Given the description of an element on the screen output the (x, y) to click on. 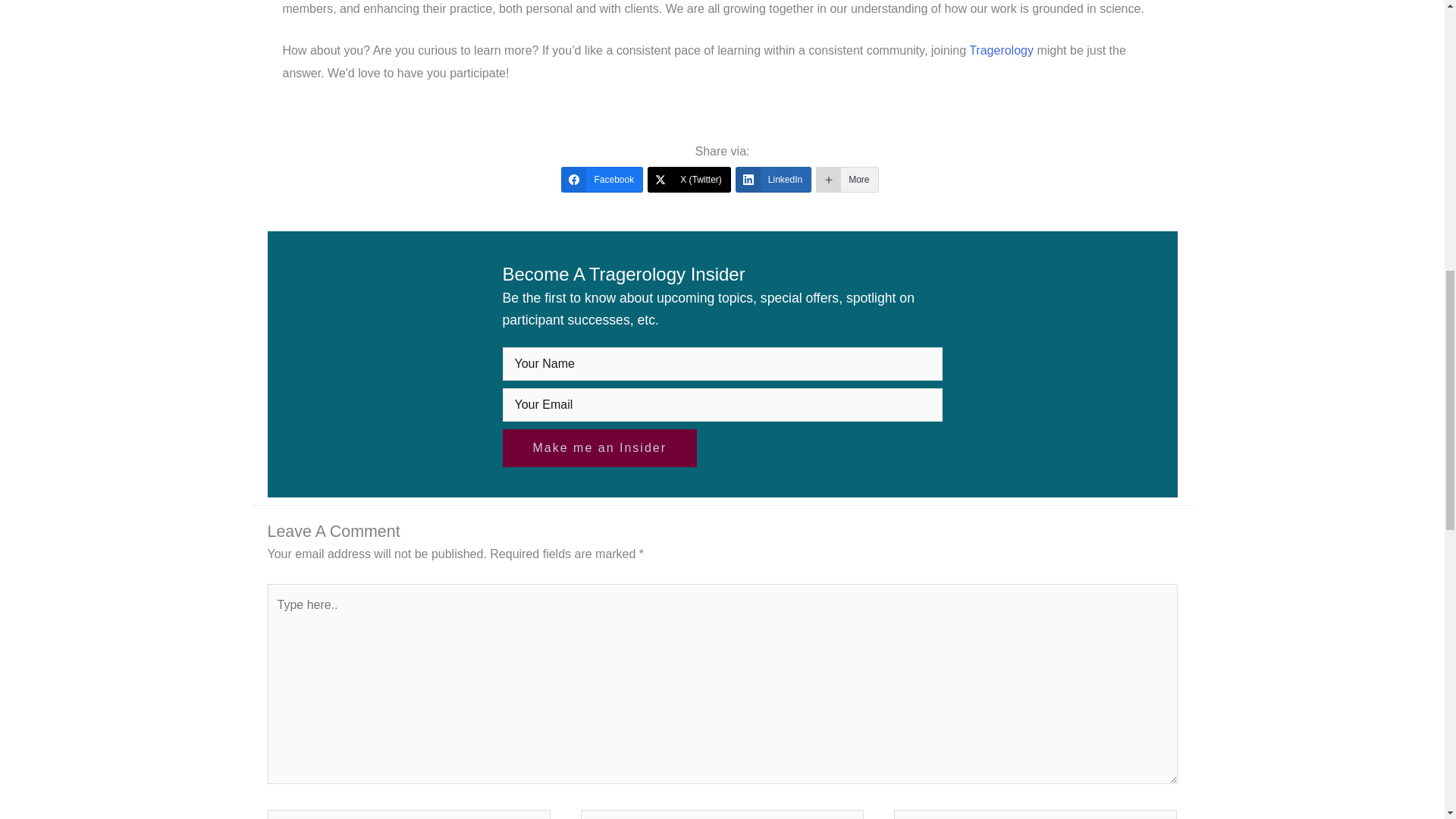
Make me an Insider (599, 447)
Facebook (601, 179)
Tragerology (1001, 50)
LinkedIn (772, 179)
Click Here (599, 447)
More (846, 179)
